Given the description of an element on the screen output the (x, y) to click on. 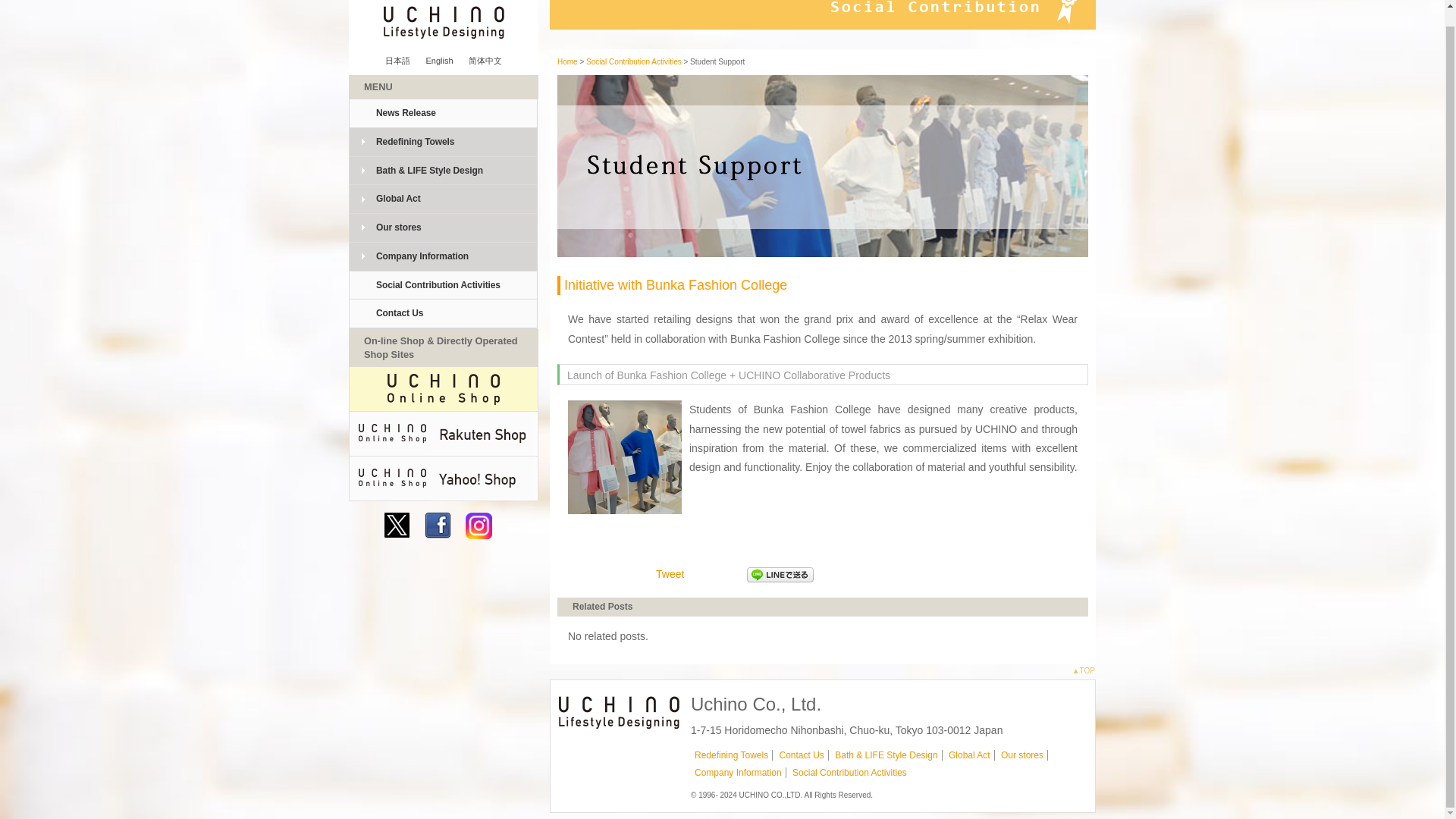
Student Support (822, 166)
Redefining Towels (731, 755)
Social Contribution (823, 14)
Tweet (670, 573)
Go to UCHINO Rakuten Store (443, 433)
Global Act (443, 199)
Our stores (1022, 755)
Home (567, 61)
Go to UCHINO Yahoo! Store (443, 478)
Our stores (443, 227)
Social Contribution Activities (849, 772)
Redefining Towels (443, 142)
English (438, 60)
Student Support (624, 457)
Go to Home (567, 61)
